Given the description of an element on the screen output the (x, y) to click on. 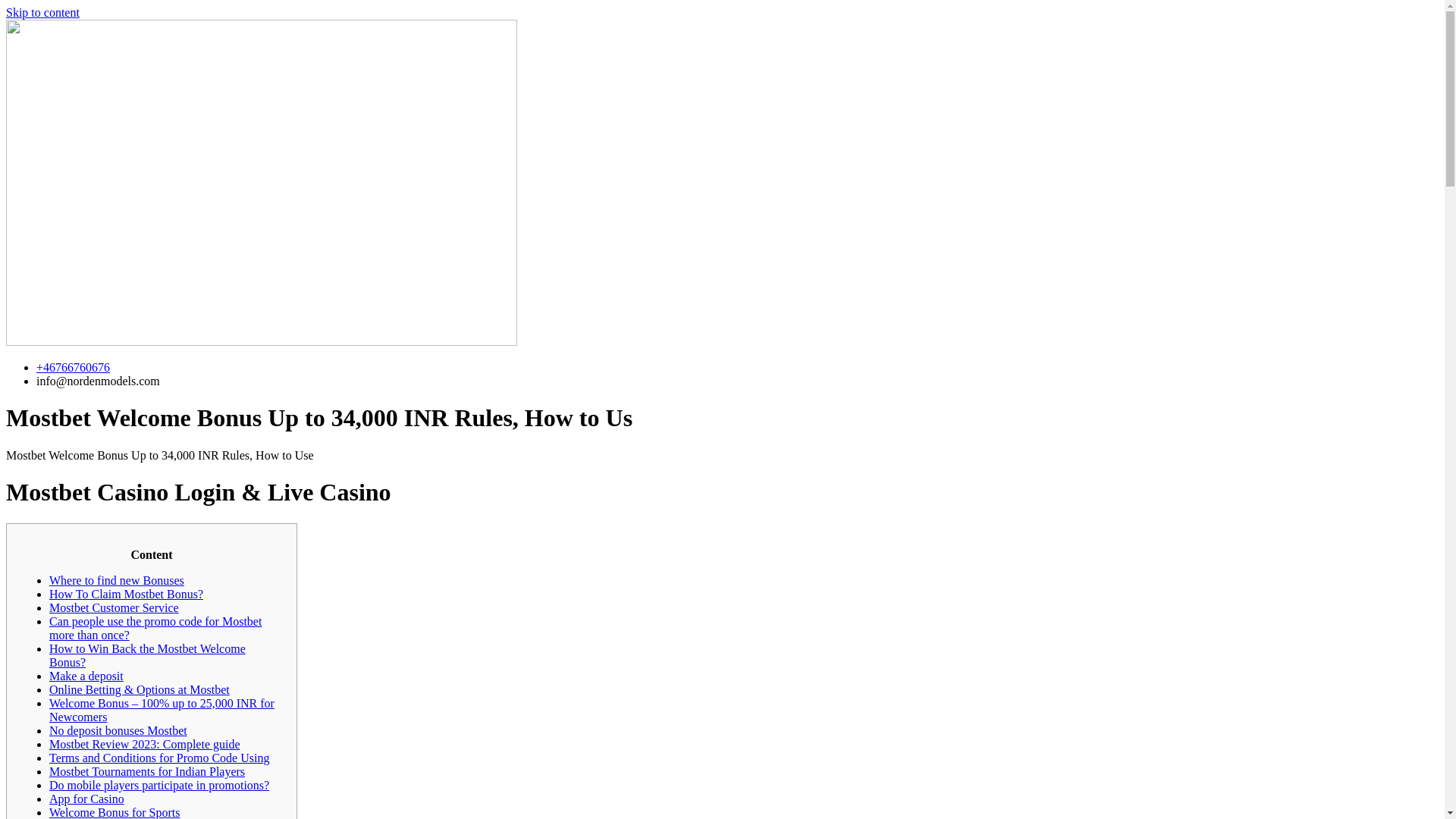
How to Win Back the Mostbet Welcome Bonus? (147, 655)
Terms and Conditions for Promo Code Using (159, 757)
Make a deposit (86, 675)
No deposit bonuses Mostbet (118, 730)
Mostbet Tournaments for Indian Players (146, 771)
Do mobile players participate in promotions? (159, 784)
Welcome Bonus for Sports (114, 812)
App for Casino (86, 798)
Skip to content (42, 11)
Mostbet Customer Service (114, 607)
How To Claim Mostbet Bonus? (126, 594)
Where to find new Bonuses (116, 580)
Mostbet Review 2023: Complete guide (144, 744)
Can people use the promo code for Mostbet more than once? (155, 628)
